Given the description of an element on the screen output the (x, y) to click on. 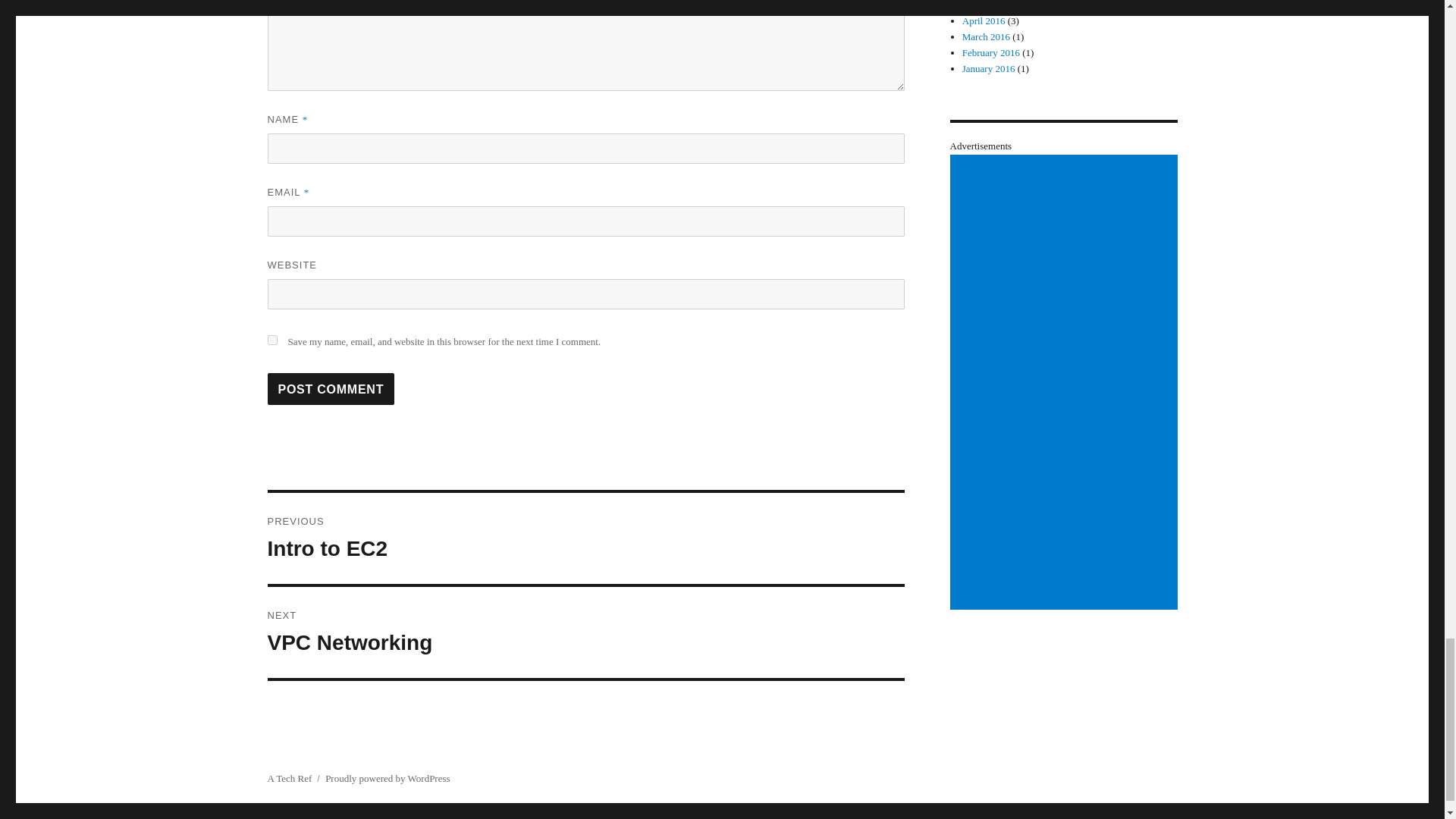
yes (271, 339)
Post Comment (330, 388)
Post Comment (330, 388)
